Given the description of an element on the screen output the (x, y) to click on. 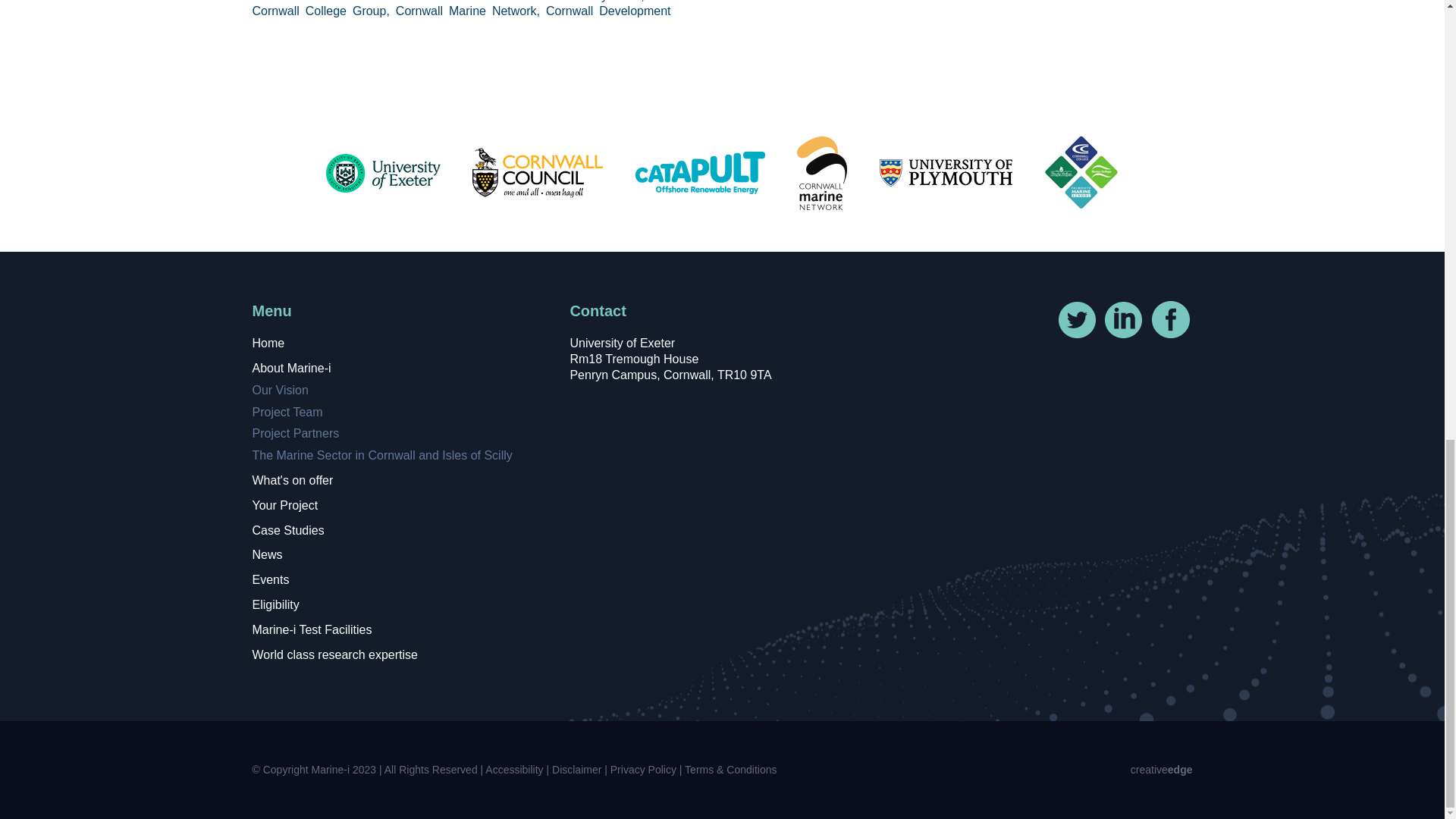
Home (267, 342)
